Given the description of an element on the screen output the (x, y) to click on. 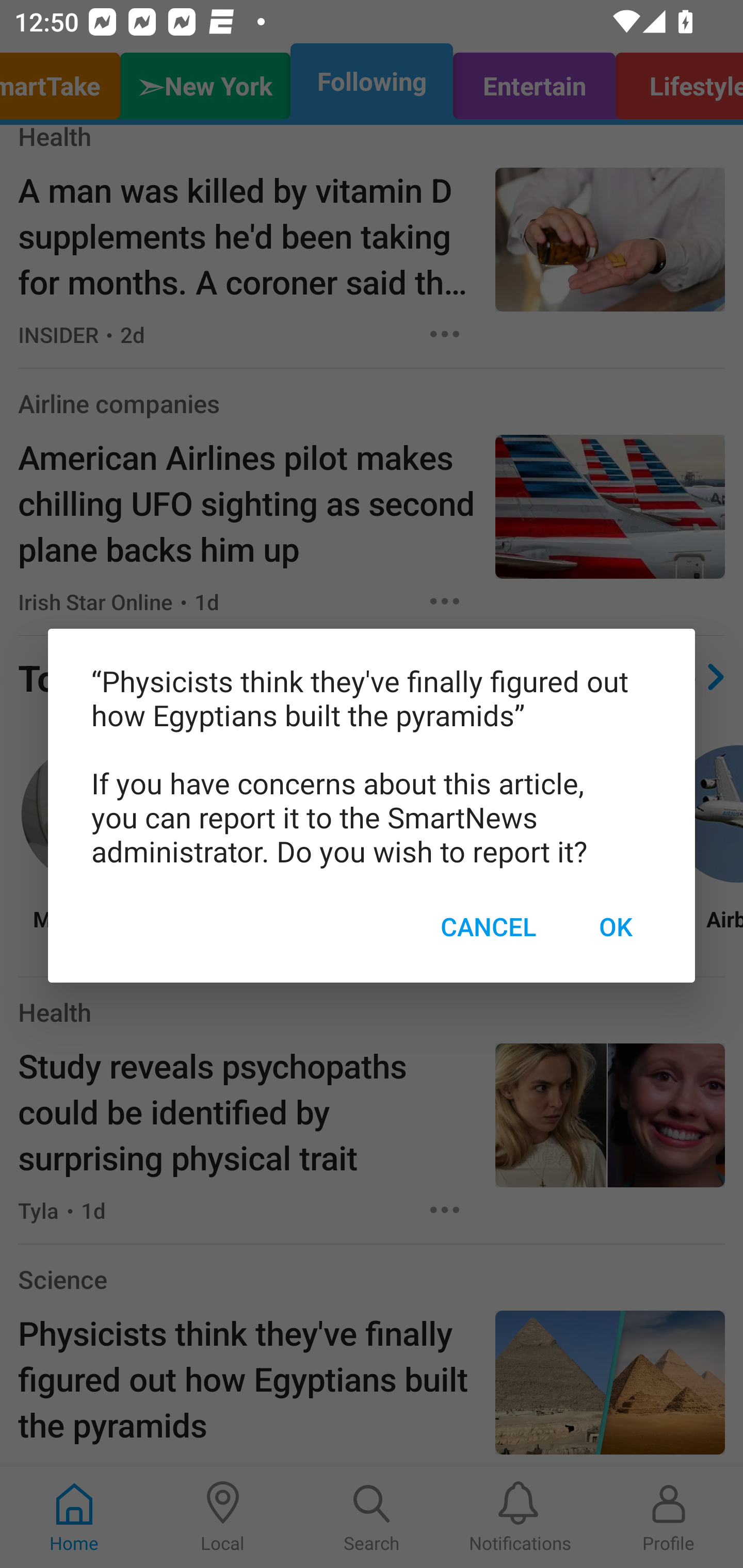
CANCEL (488, 926)
OK (615, 926)
